Given the description of an element on the screen output the (x, y) to click on. 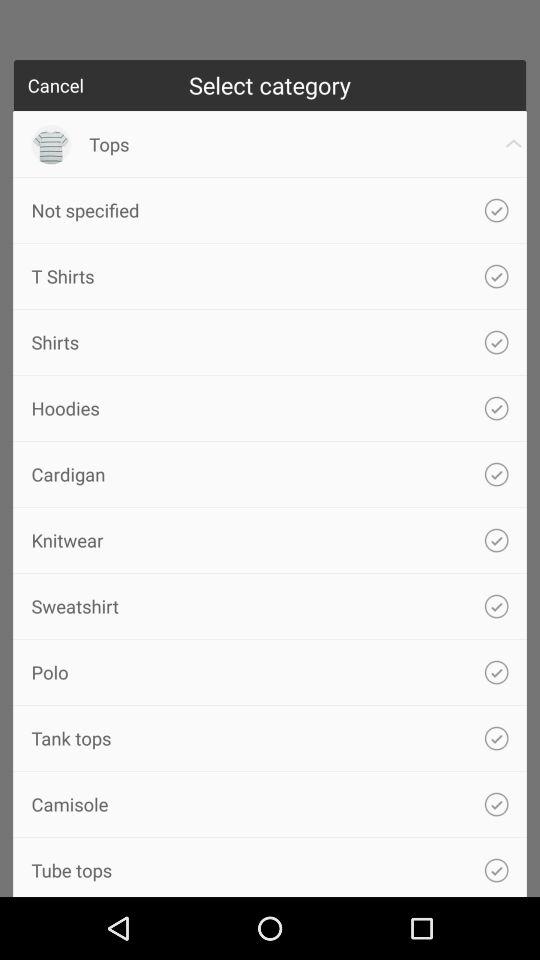
turn on icon next to select category (55, 85)
